Given the description of an element on the screen output the (x, y) to click on. 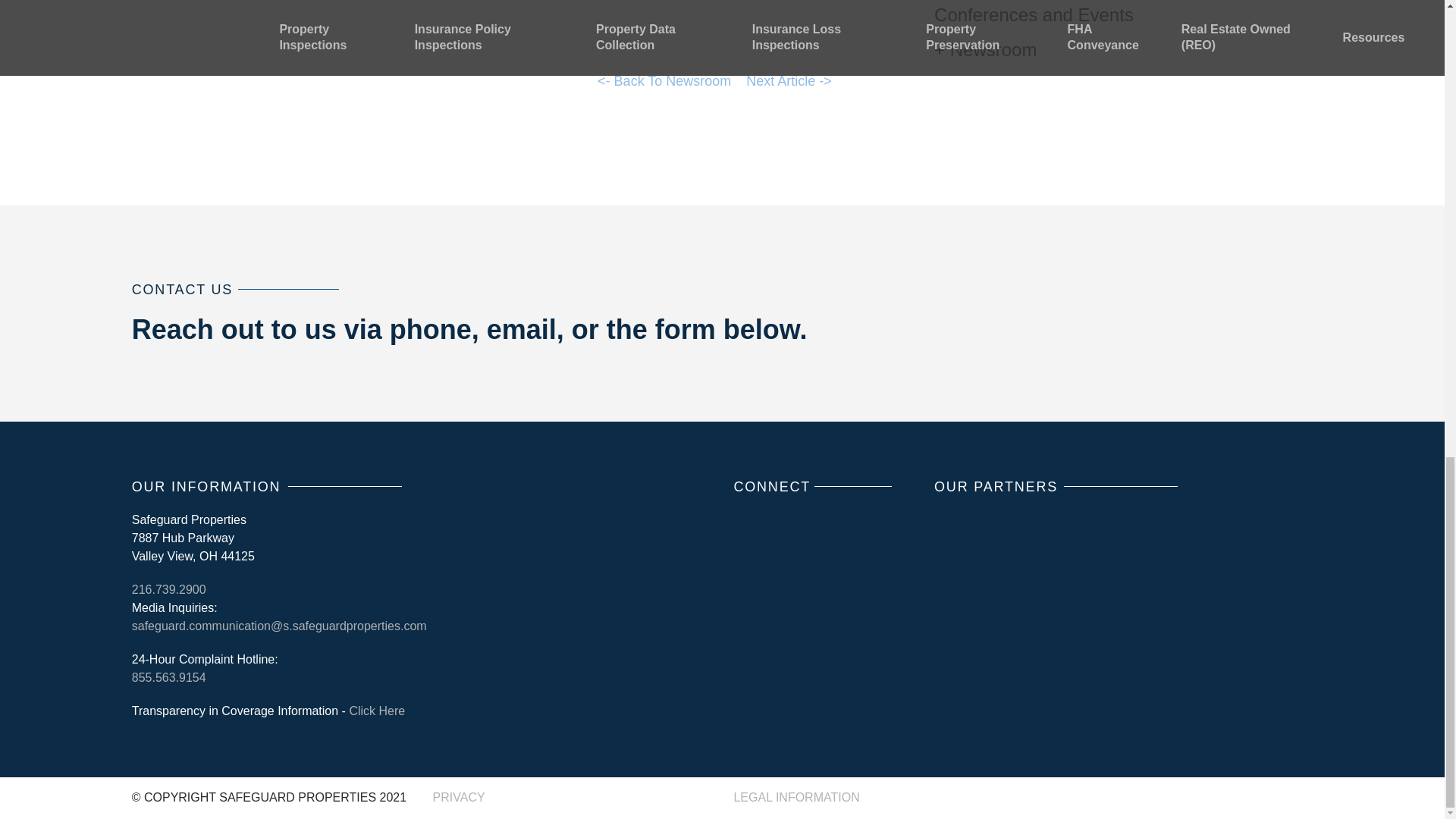
216.739.2900 (169, 589)
Click Here (376, 710)
Conferences and Events (1034, 14)
855.563.9154 (169, 676)
